Given the description of an element on the screen output the (x, y) to click on. 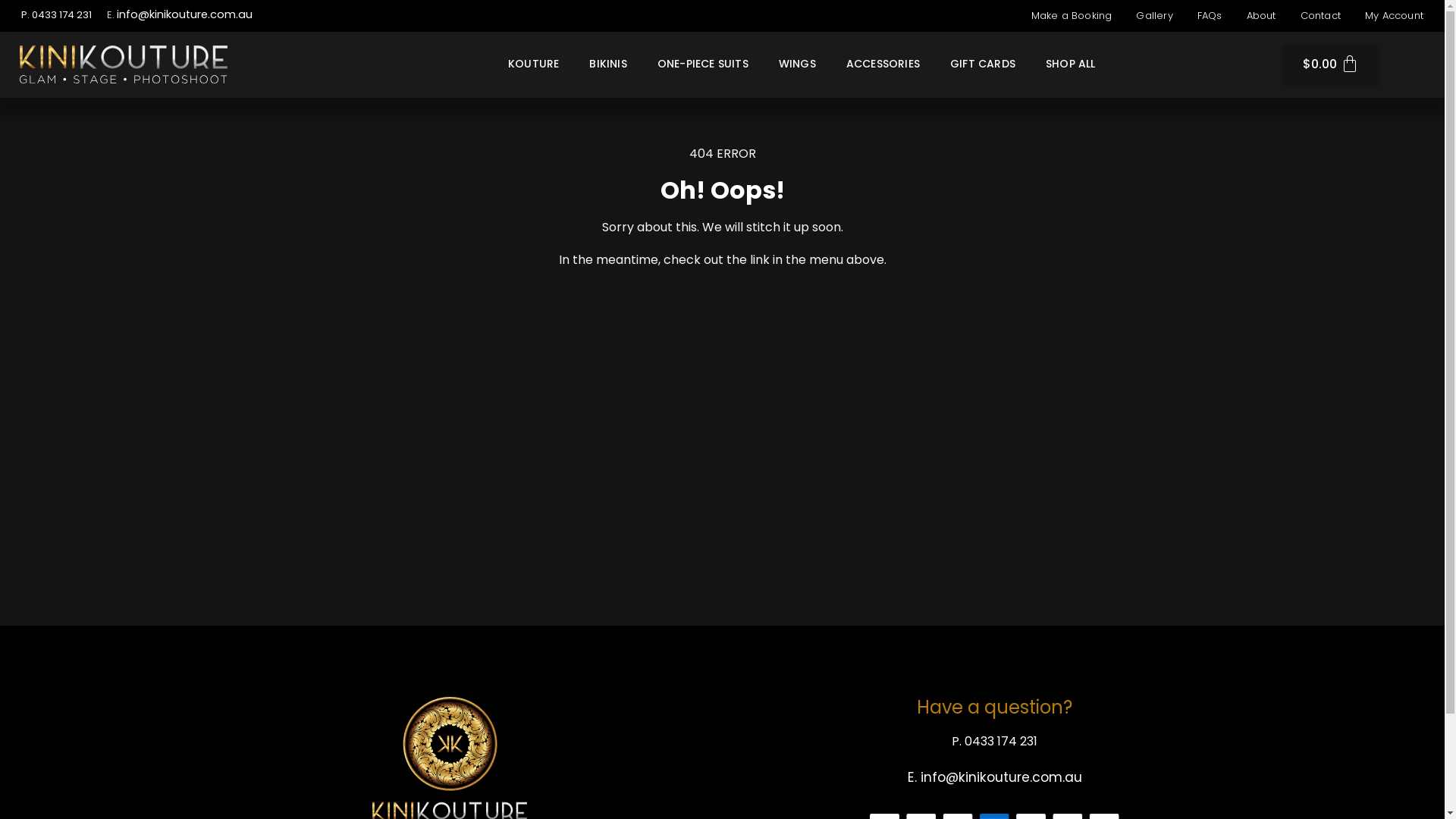
SHOP ALL Element type: text (1070, 63)
ONE-PIECE SUITS Element type: text (702, 63)
P. 0433 174 231 Element type: text (994, 740)
ACCESSORIES Element type: text (882, 63)
About Element type: text (1261, 15)
FAQs Element type: text (1209, 15)
Gallery Element type: text (1153, 15)
Make a Booking Element type: text (1071, 15)
BIKINIS Element type: text (607, 63)
$0.00 Element type: text (1330, 63)
WINGS Element type: text (797, 63)
info@kinikouture.com.au Element type: text (184, 13)
KOUTURE Element type: text (533, 63)
GIFT CARDS Element type: text (982, 63)
My Account Element type: text (1393, 15)
E. info@kinikouture.com.au Element type: text (994, 777)
Contact Element type: text (1320, 15)
